Given the description of an element on the screen output the (x, y) to click on. 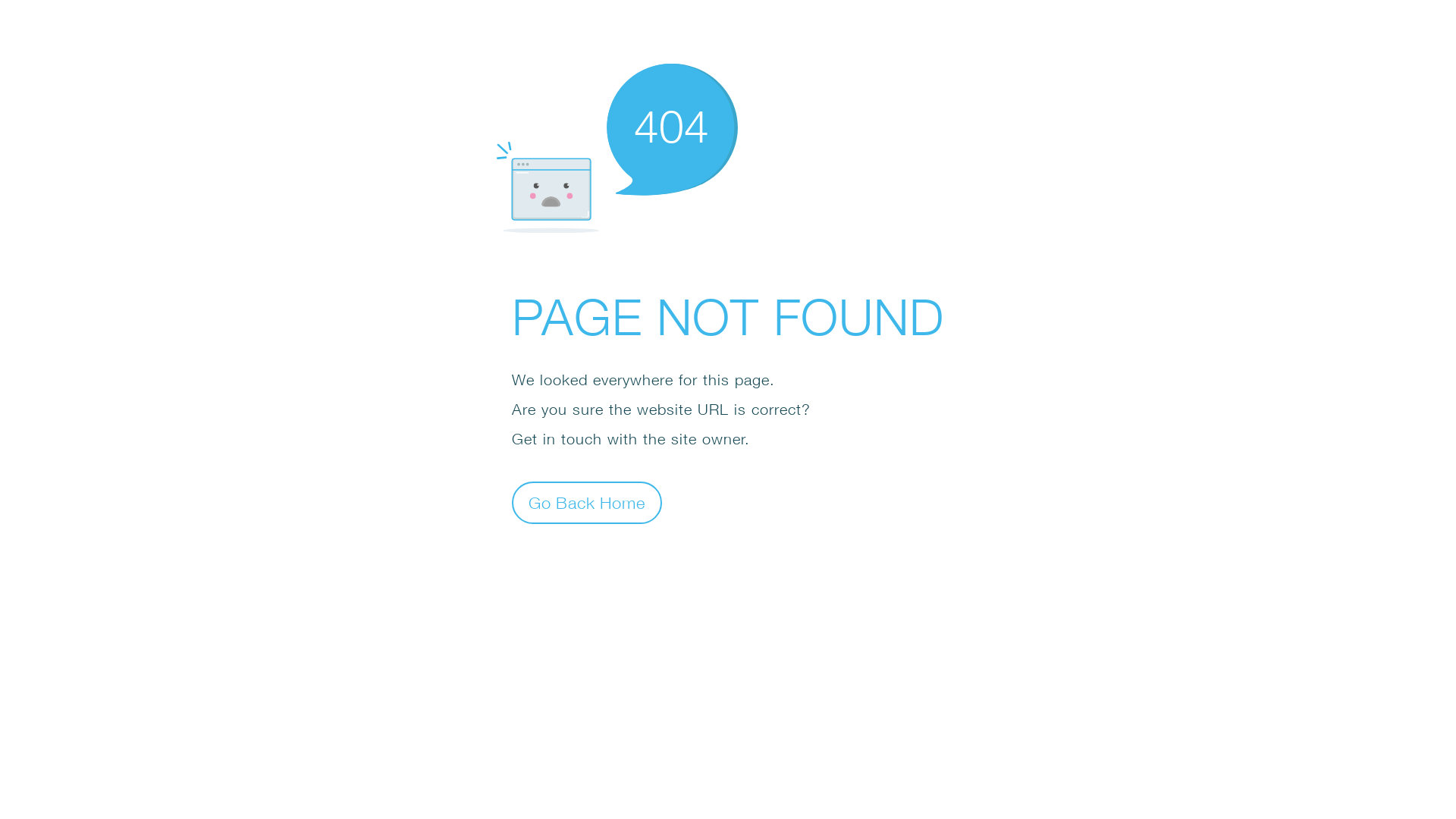
Go Back Home Element type: text (586, 502)
